Given the description of an element on the screen output the (x, y) to click on. 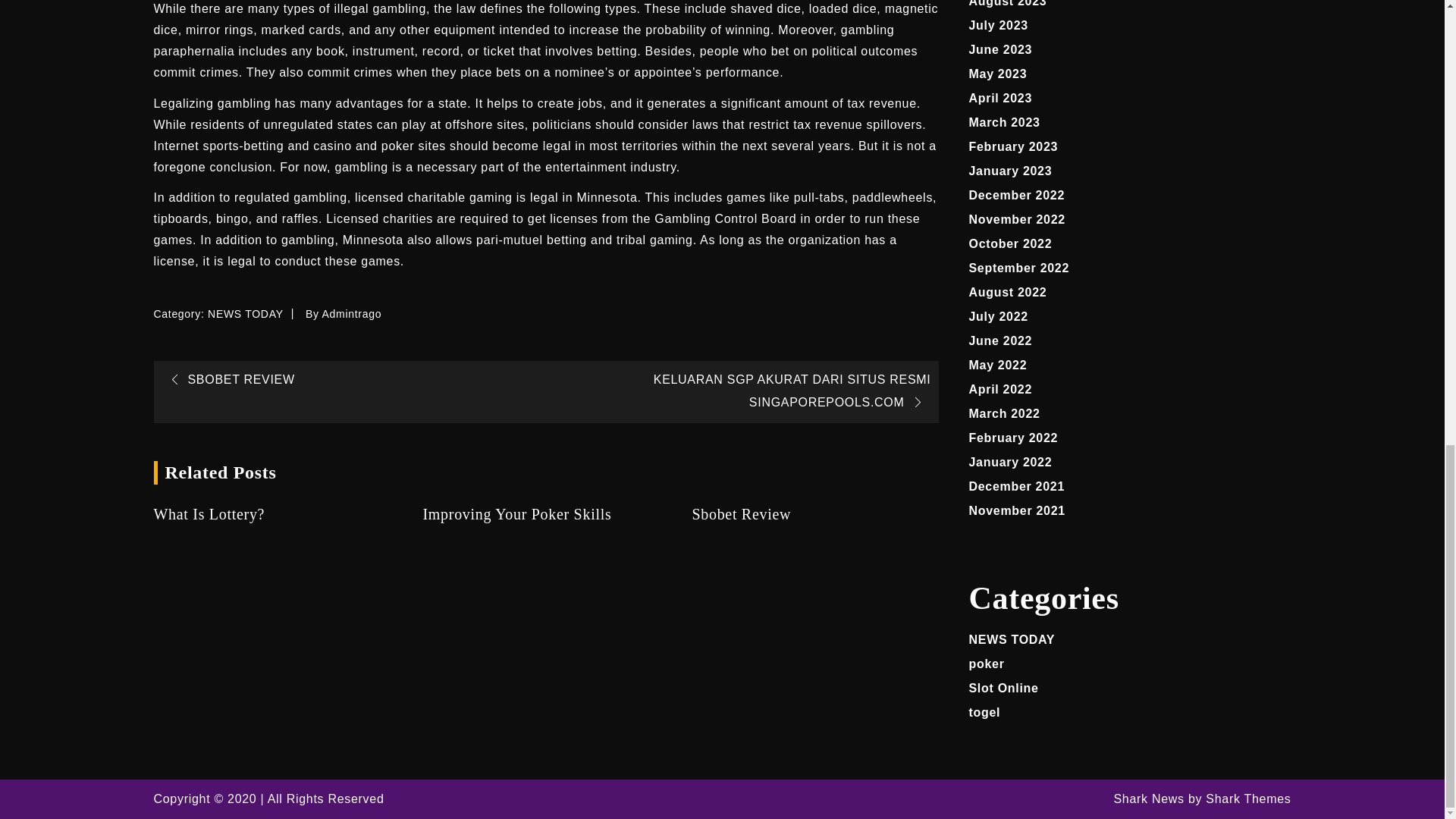
January 2023 (1010, 170)
Improving Your Poker Skills (545, 514)
June 2023 (1000, 49)
April 2023 (1000, 97)
What Is Lottery? (275, 514)
KELUARAN SGP AKURAT DARI SITUS RESMI SINGAPOREPOOLS.COM (792, 390)
May 2023 (998, 73)
Admintrago (351, 313)
Sbobet Review (814, 514)
August 2023 (1007, 3)
